Given the description of an element on the screen output the (x, y) to click on. 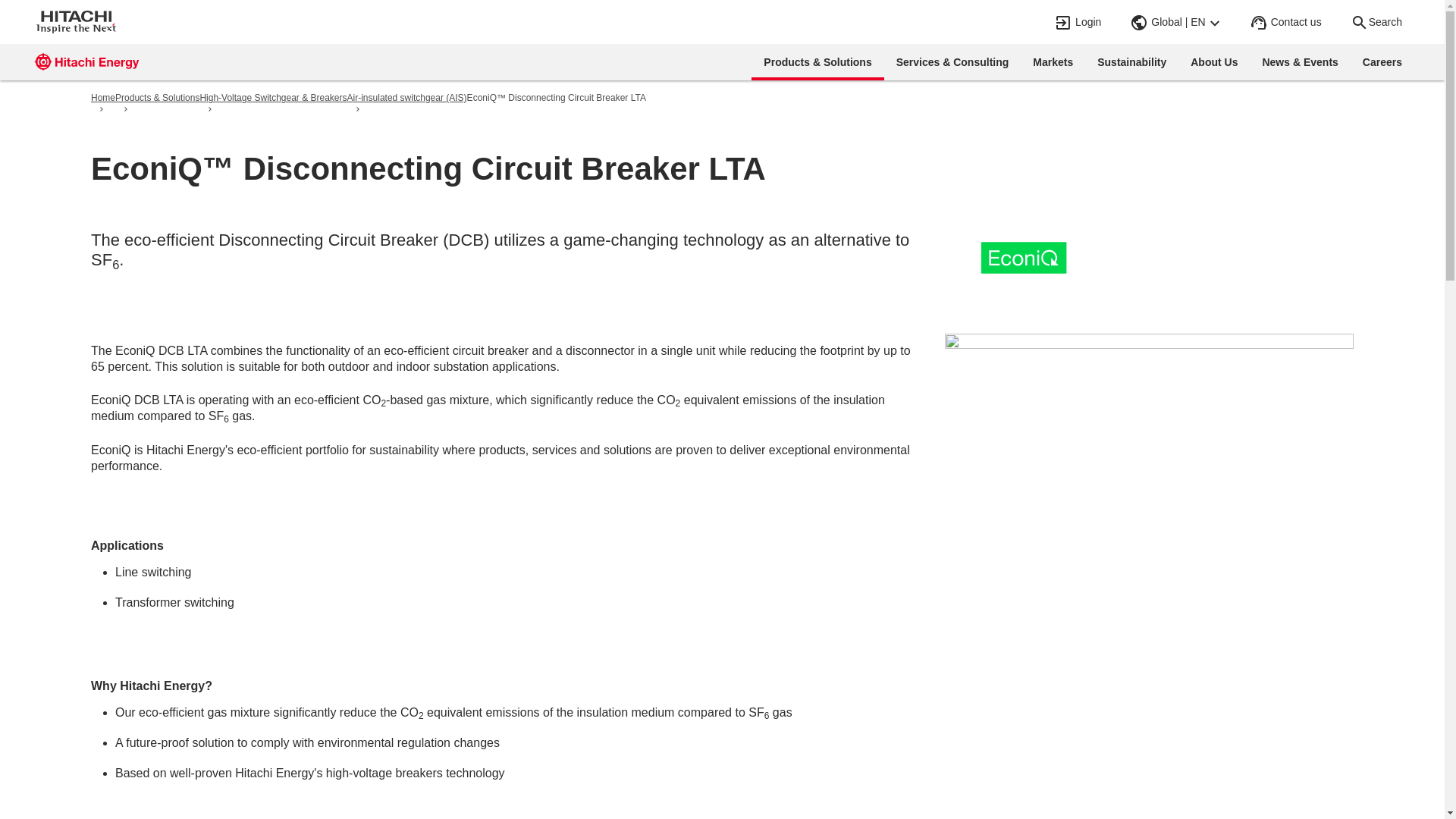
Markets (1052, 62)
Search (1375, 22)
Contact us (1286, 21)
Login (1078, 21)
